Given the description of an element on the screen output the (x, y) to click on. 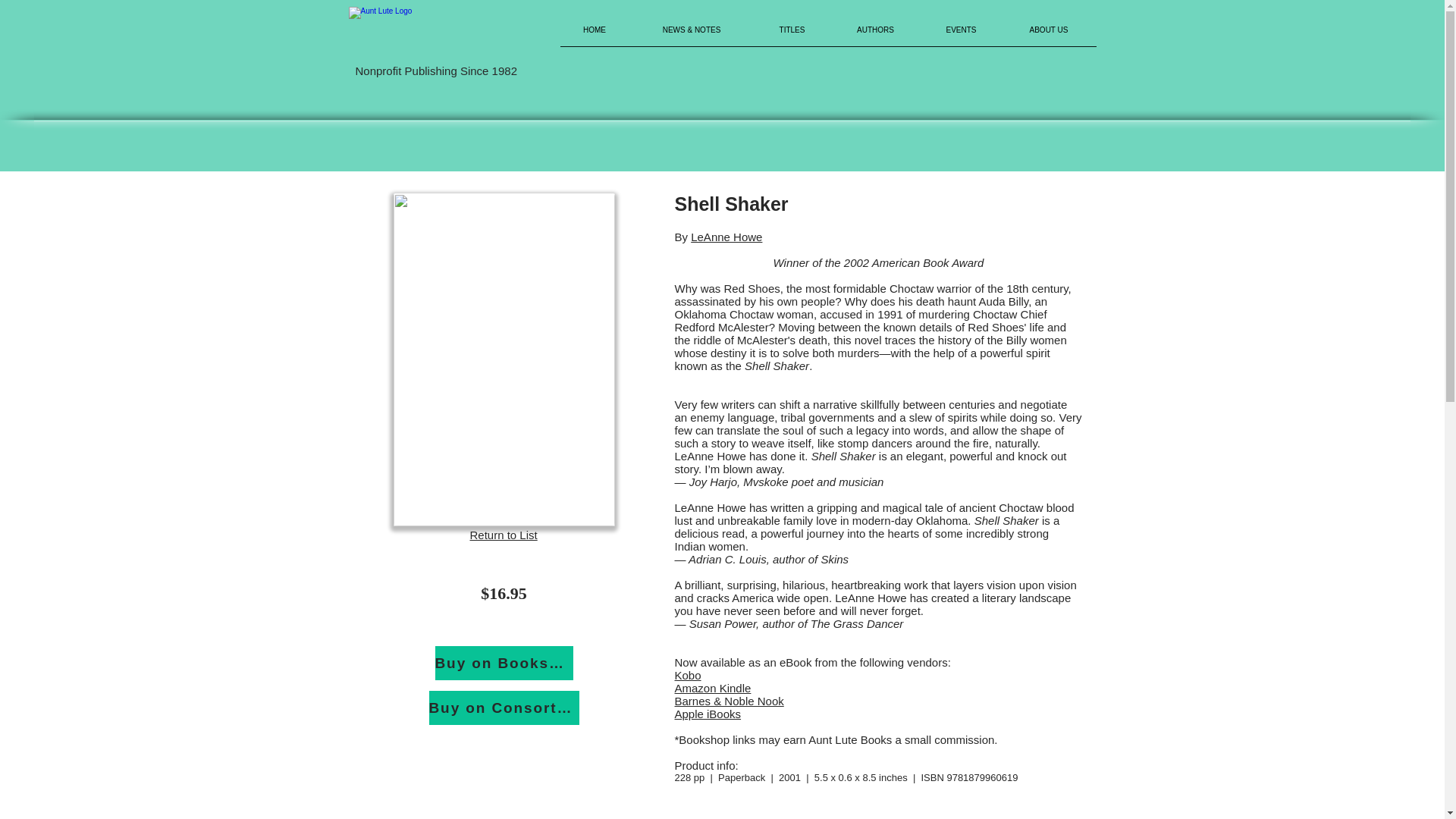
EVENTS (960, 34)
Buy on Bookshop (504, 663)
Amazon Kindle (713, 687)
ABOUT US (1048, 34)
Aunt Lute Logo (444, 34)
Buy on Consortium (504, 707)
AUTHORS (874, 34)
Return to List (503, 534)
TITLES (791, 34)
Kobo (688, 675)
